Given the description of an element on the screen output the (x, y) to click on. 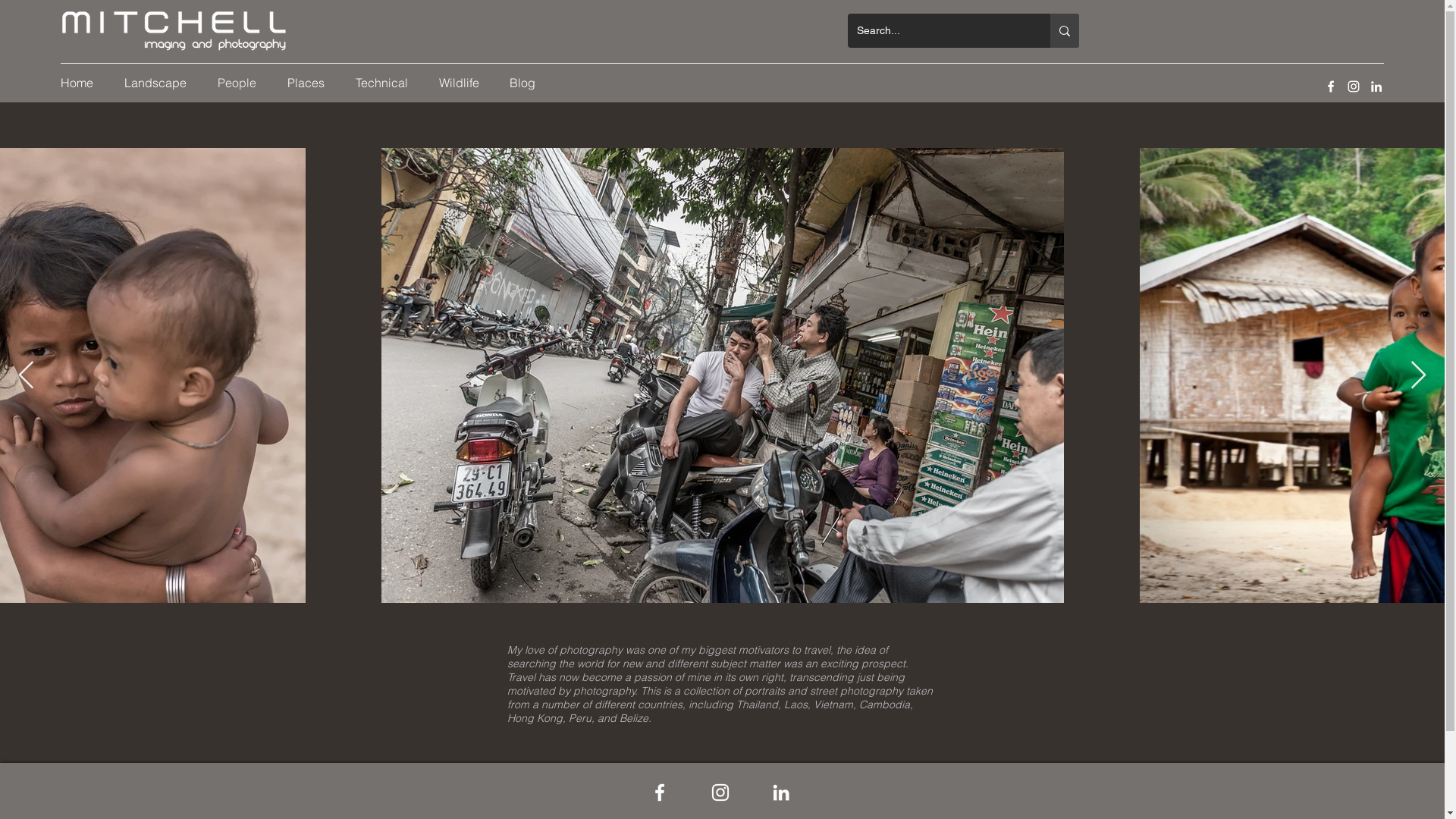
Technical Element type: text (385, 82)
People Element type: text (241, 82)
Wildlife Element type: text (462, 82)
Places Element type: text (310, 82)
Home Element type: text (80, 82)
Landscape Element type: text (159, 82)
Blog Element type: text (526, 82)
